Given the description of an element on the screen output the (x, y) to click on. 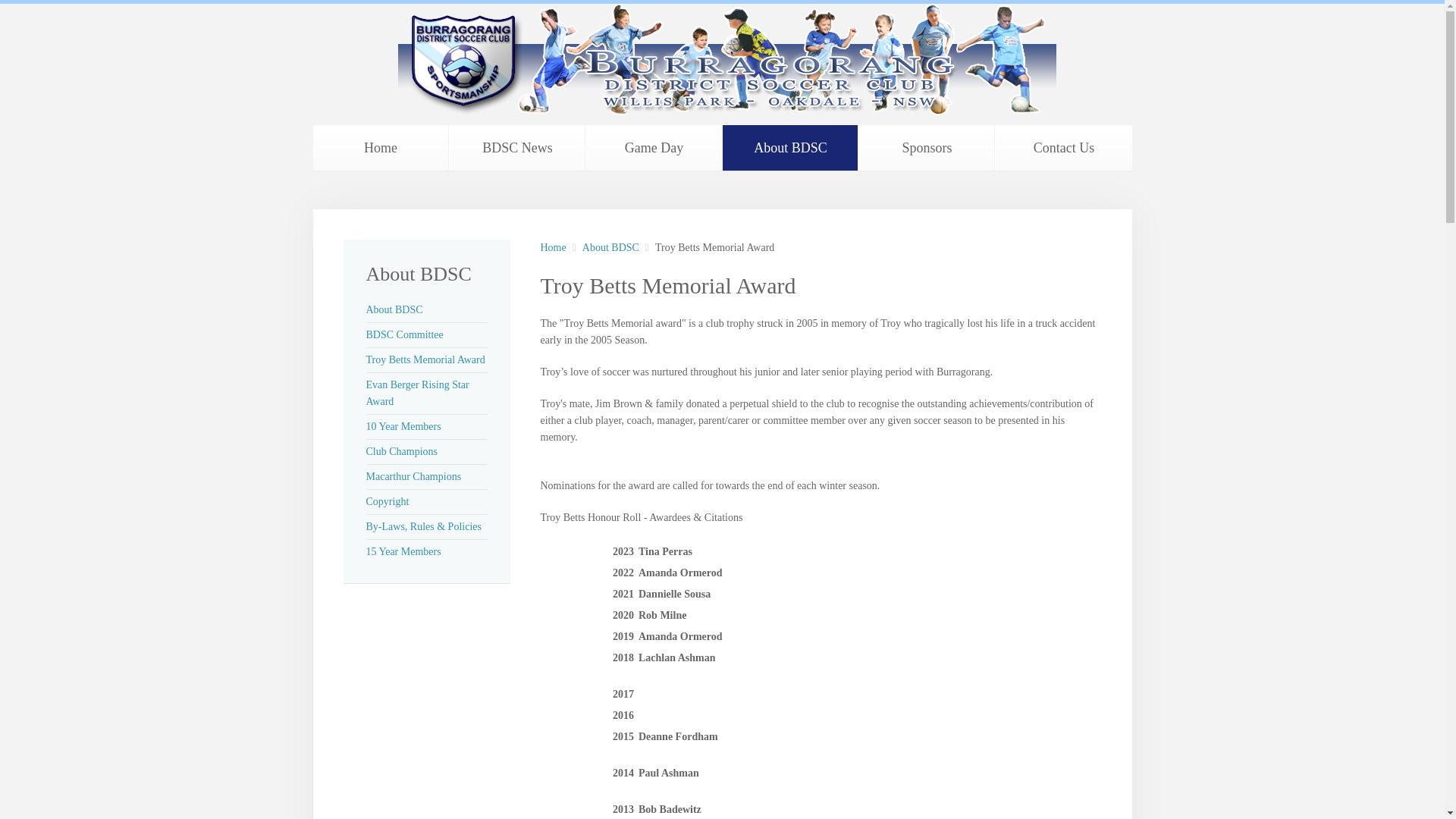
15 Year Members (403, 551)
Copyright (387, 501)
10 Year Members (403, 426)
BDSC Committee (403, 334)
Sponsors (926, 147)
BDSC News (516, 147)
About BDSC (393, 309)
Home (553, 247)
Game Day (653, 147)
Home (380, 147)
